Given the description of an element on the screen output the (x, y) to click on. 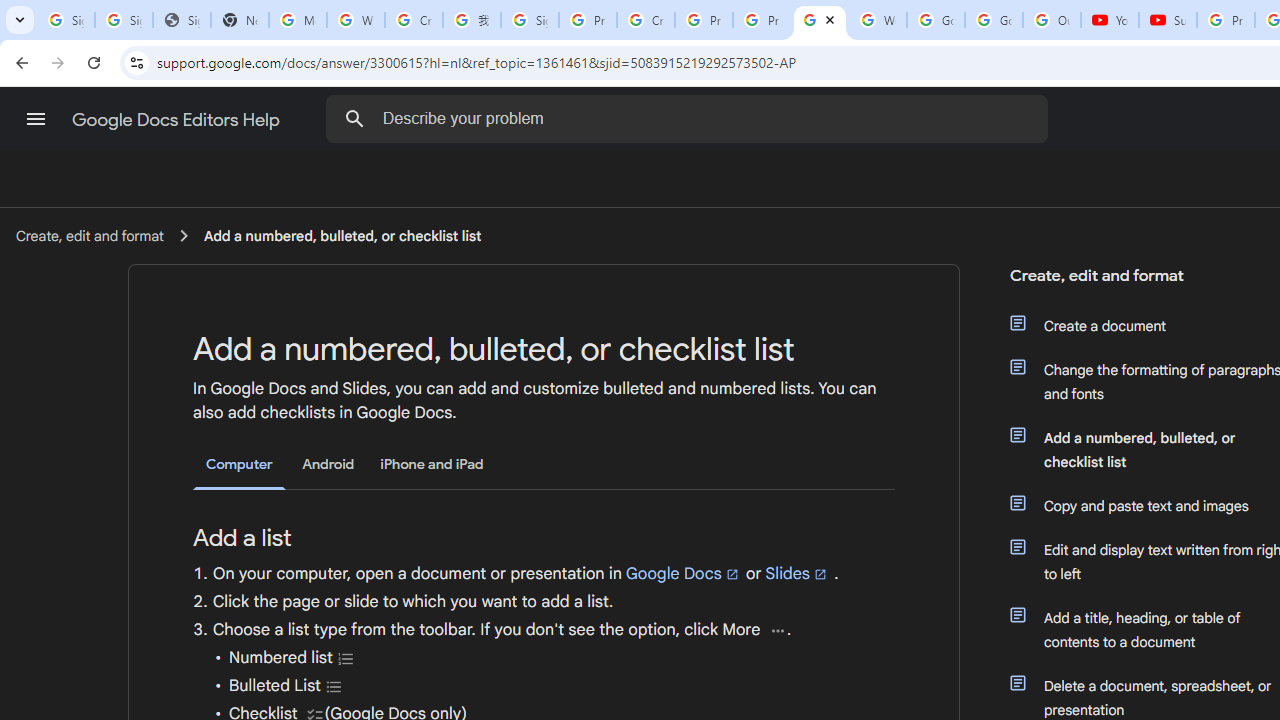
Create, edit and format (89, 235)
Sign in - Google Accounts (123, 20)
Welcome to My Activity (877, 20)
New Tab (239, 20)
Sign in - Google Accounts (529, 20)
Add a numbered, bulleted, or checklist list (342, 235)
